Given the description of an element on the screen output the (x, y) to click on. 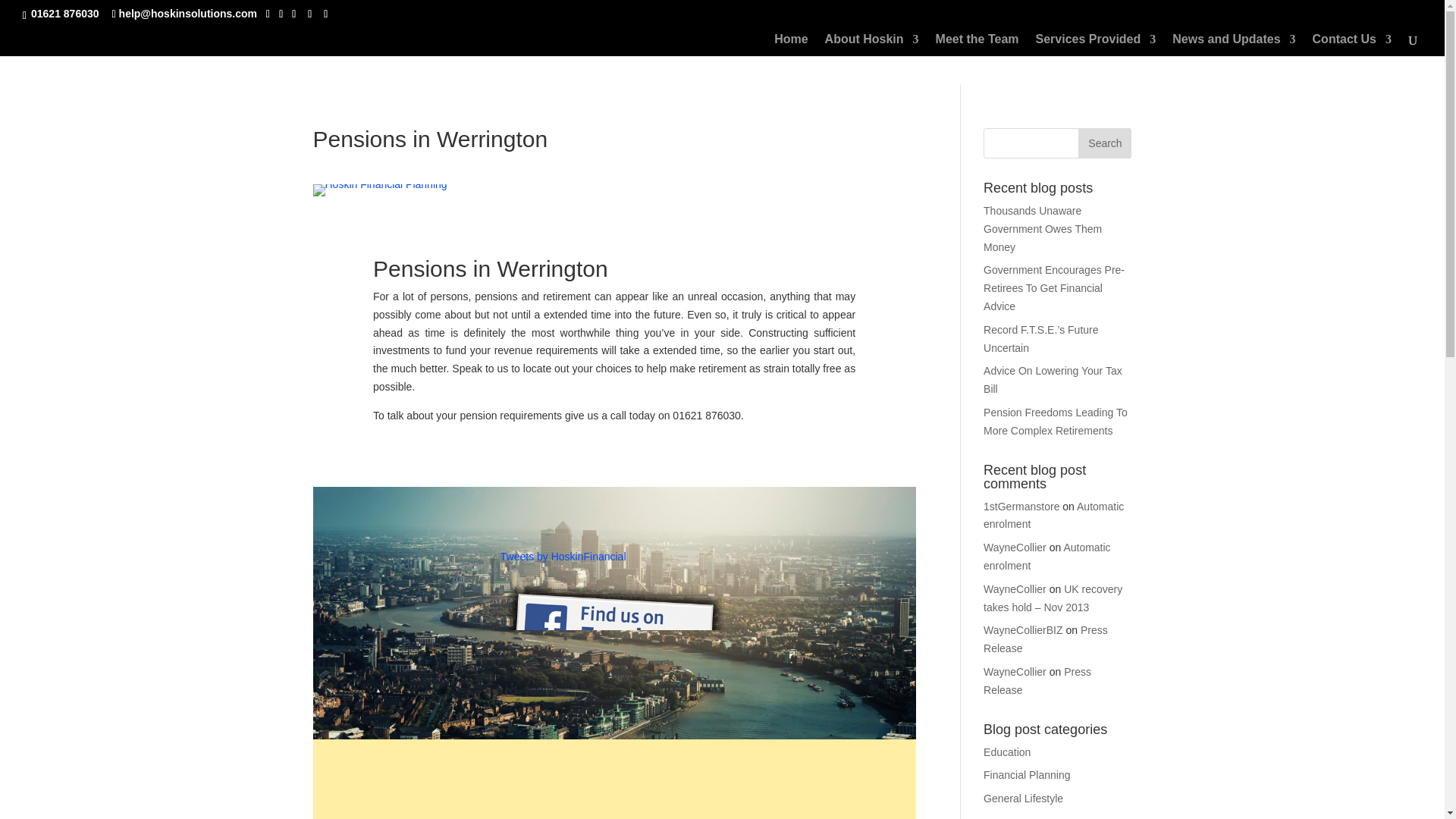
Services Provided (1095, 45)
Meet the Team (977, 45)
About Hoskin (871, 45)
Home (791, 45)
Search (1104, 142)
